Given the description of an element on the screen output the (x, y) to click on. 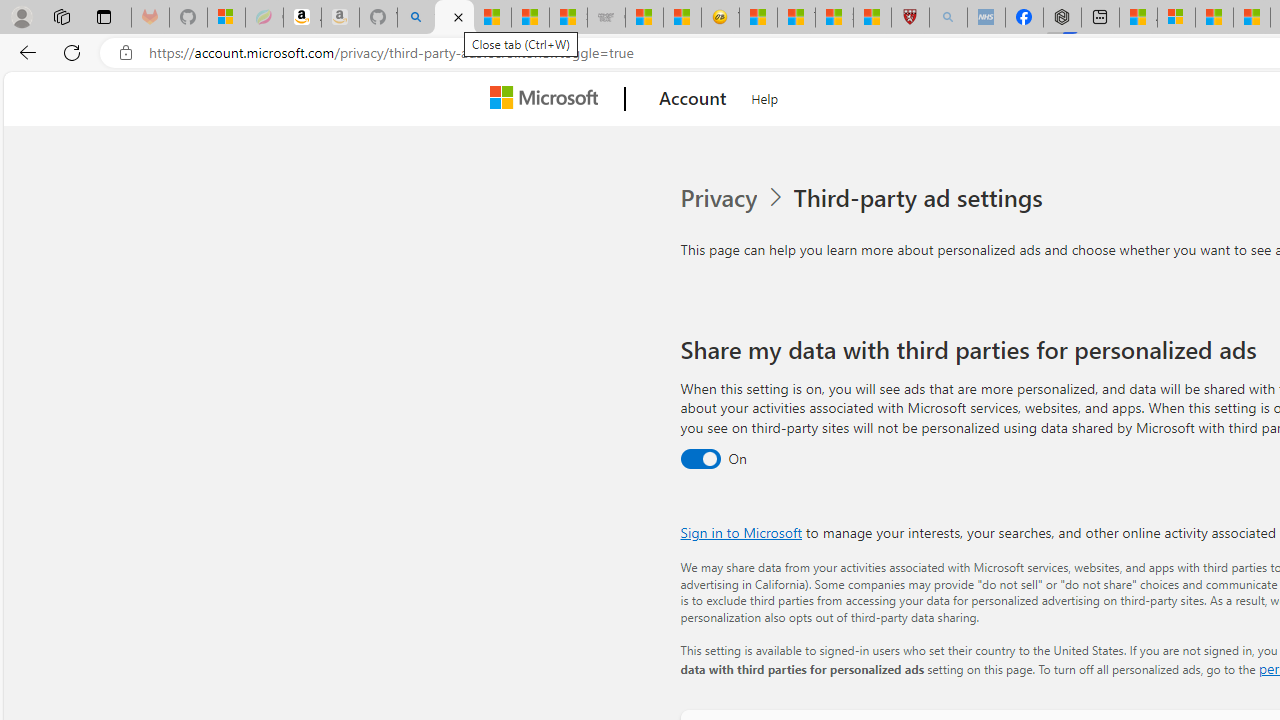
Sign in to Microsoft (740, 532)
Microsoft (548, 99)
Account (692, 99)
Recipes - MSN (757, 17)
